Given the description of an element on the screen output the (x, y) to click on. 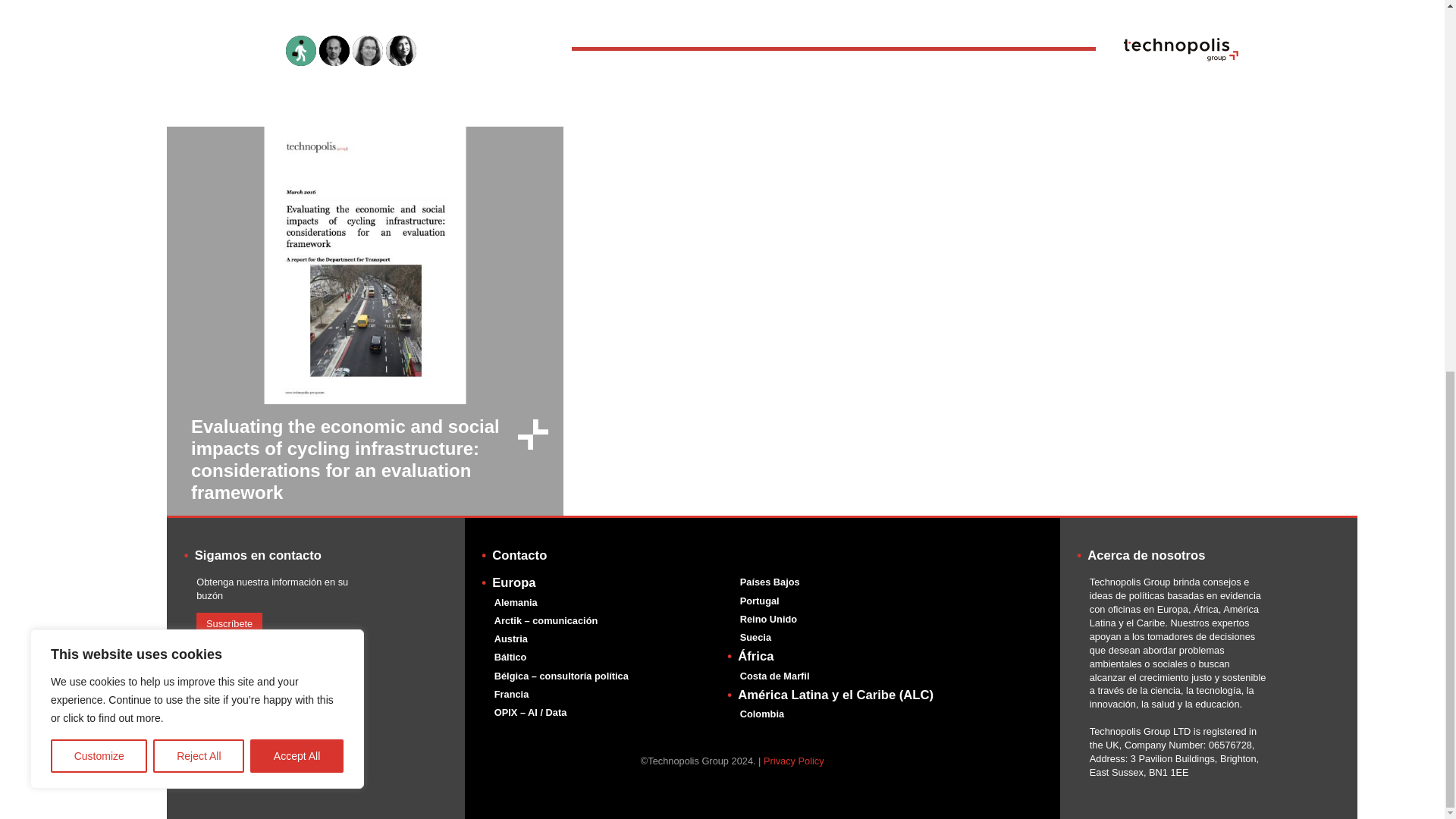
Reject All (198, 79)
Accept All (296, 79)
Customize (98, 79)
